Given the description of an element on the screen output the (x, y) to click on. 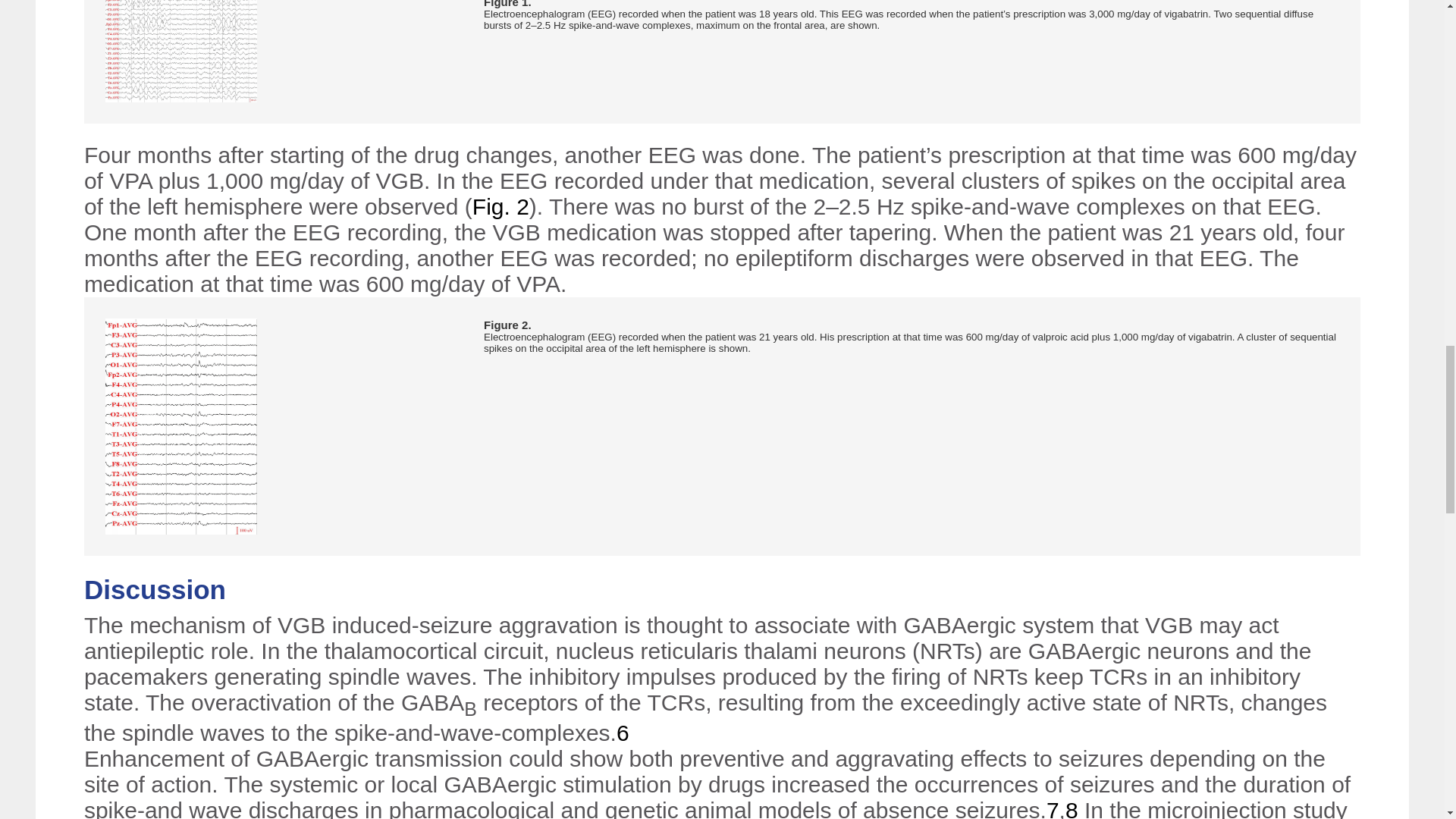
Fig. 2 (500, 206)
